Given the description of an element on the screen output the (x, y) to click on. 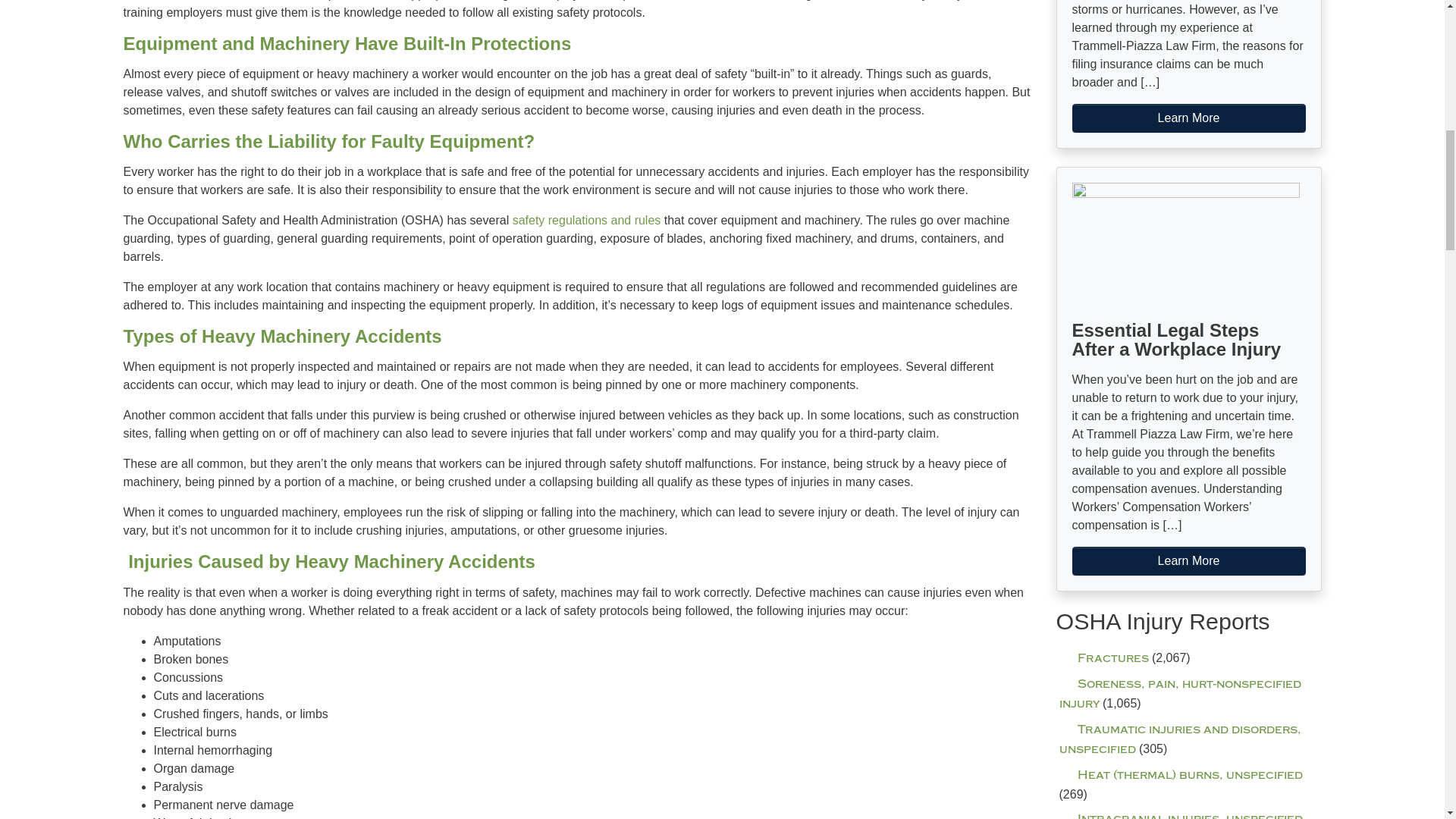
Traumatic injuries and disorders, unspecified (1179, 739)
safety regulations and rules (586, 219)
Soreness, pain, hurt-nonspecified injury (1179, 694)
Intracranial injuries, unspecified (1179, 815)
Fractures (1103, 658)
Learn More (1188, 118)
Learn More (1188, 561)
